Given the description of an element on the screen output the (x, y) to click on. 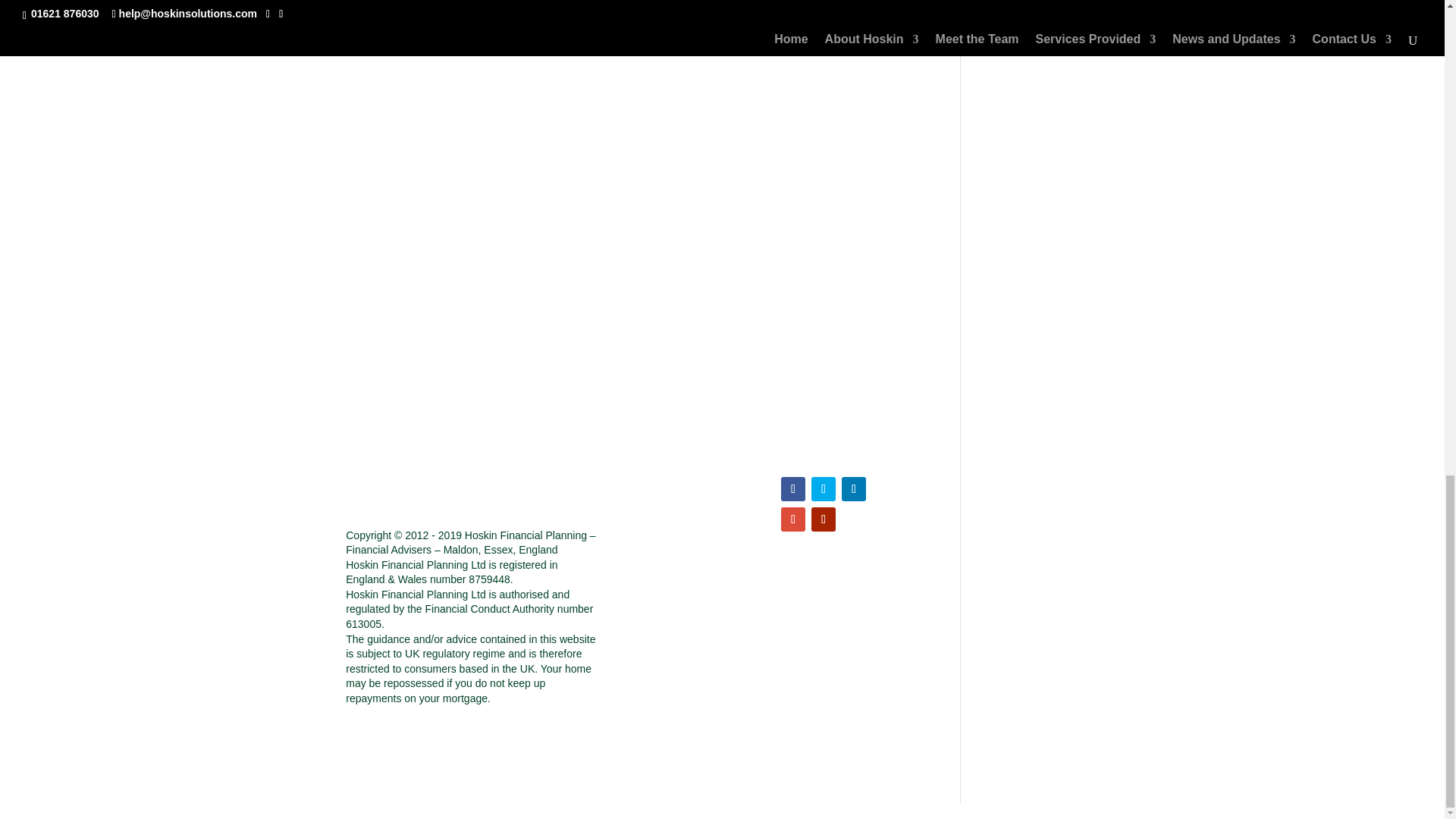
Follow on Facebook (792, 488)
Follow on LinkedIn (853, 488)
Follow on Twitter (822, 488)
Follow on Youtube (822, 518)
